Given the description of an element on the screen output the (x, y) to click on. 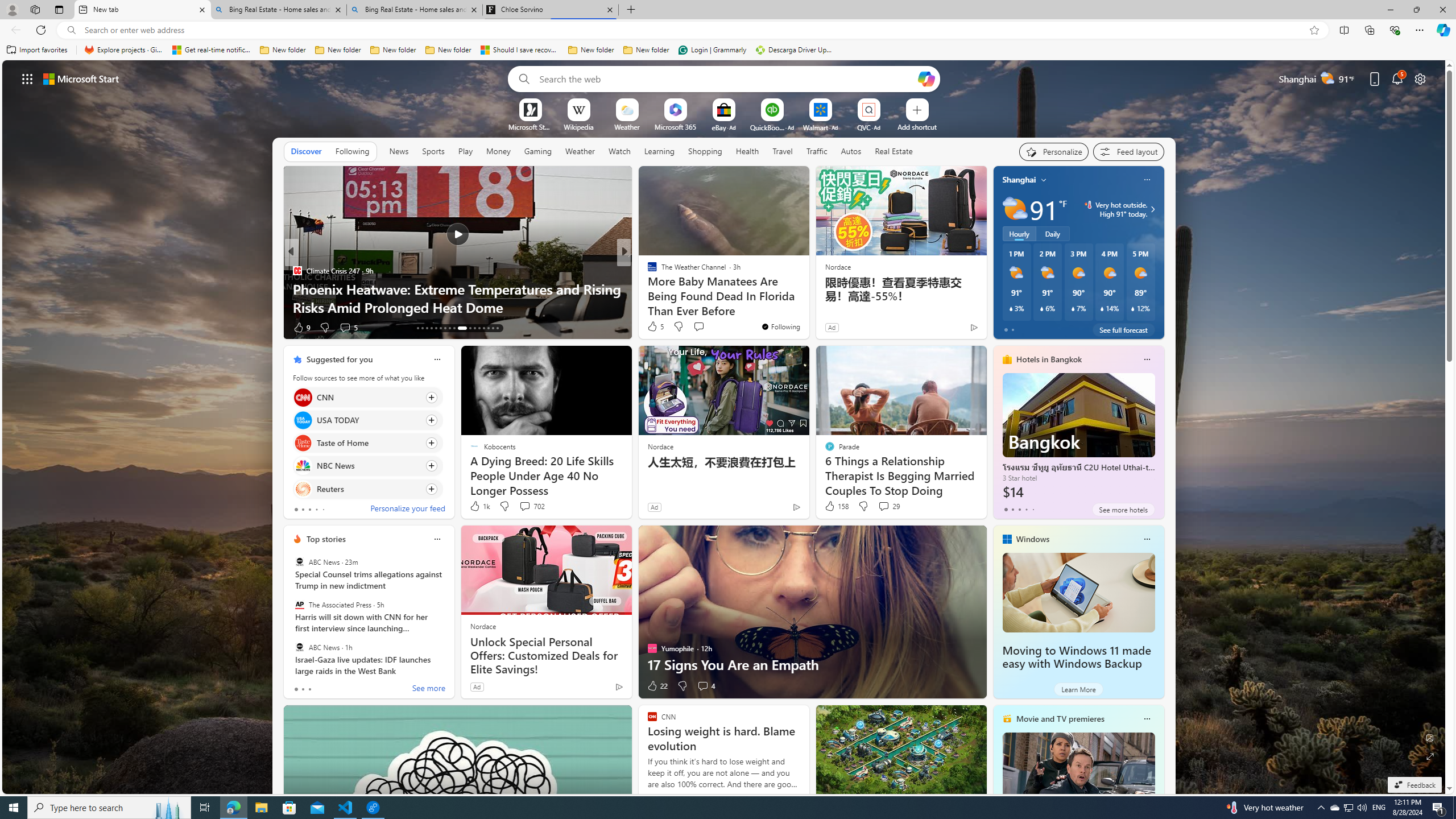
Suggested for you (338, 359)
AutomationID: tab-21 (454, 328)
New folder (646, 49)
tab-3 (1025, 509)
View comments 29 Comment (883, 505)
Should I save recovered Word documents? - Microsoft Support (519, 49)
